Given the description of an element on the screen output the (x, y) to click on. 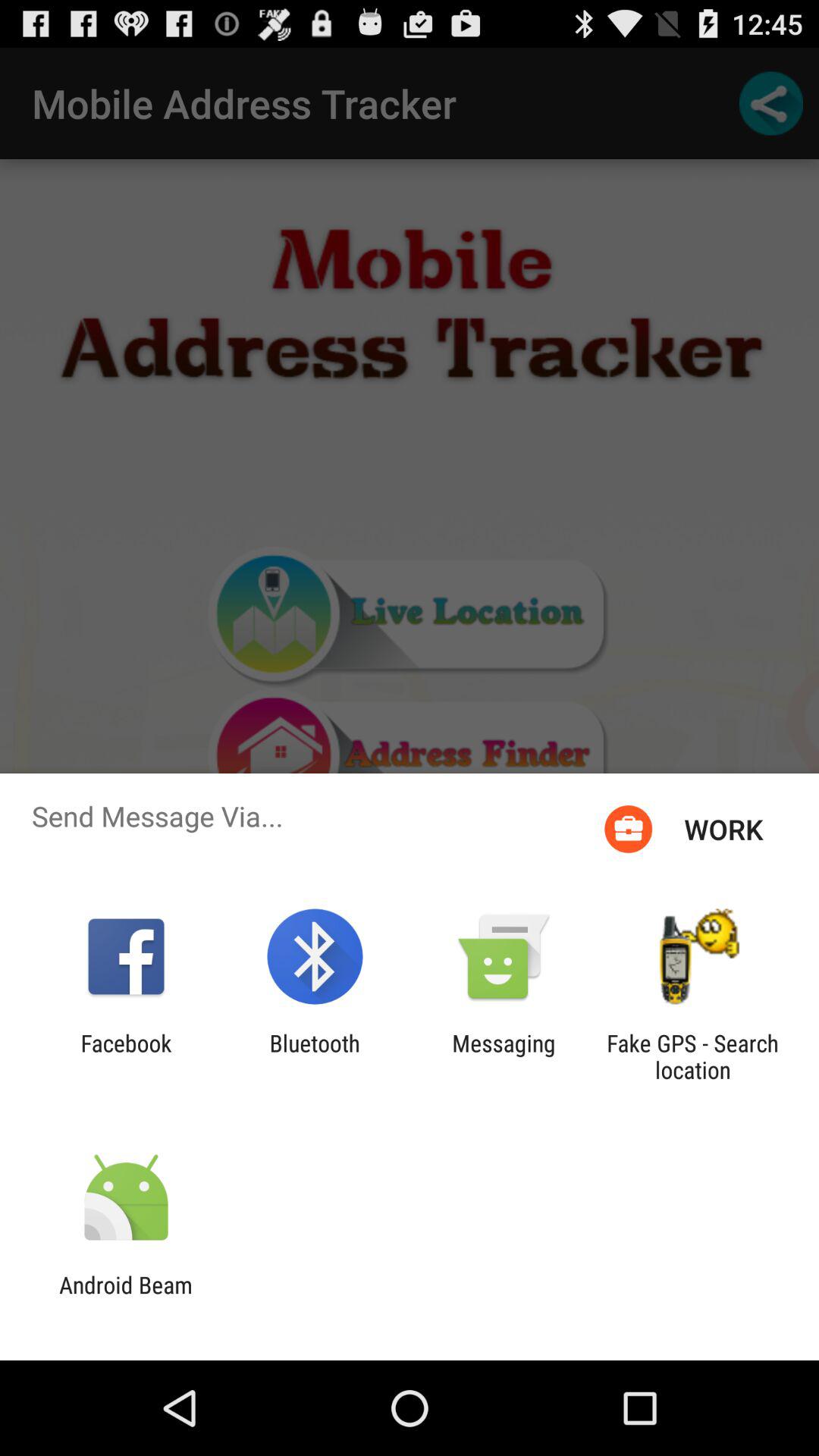
jump to bluetooth app (314, 1056)
